Given the description of an element on the screen output the (x, y) to click on. 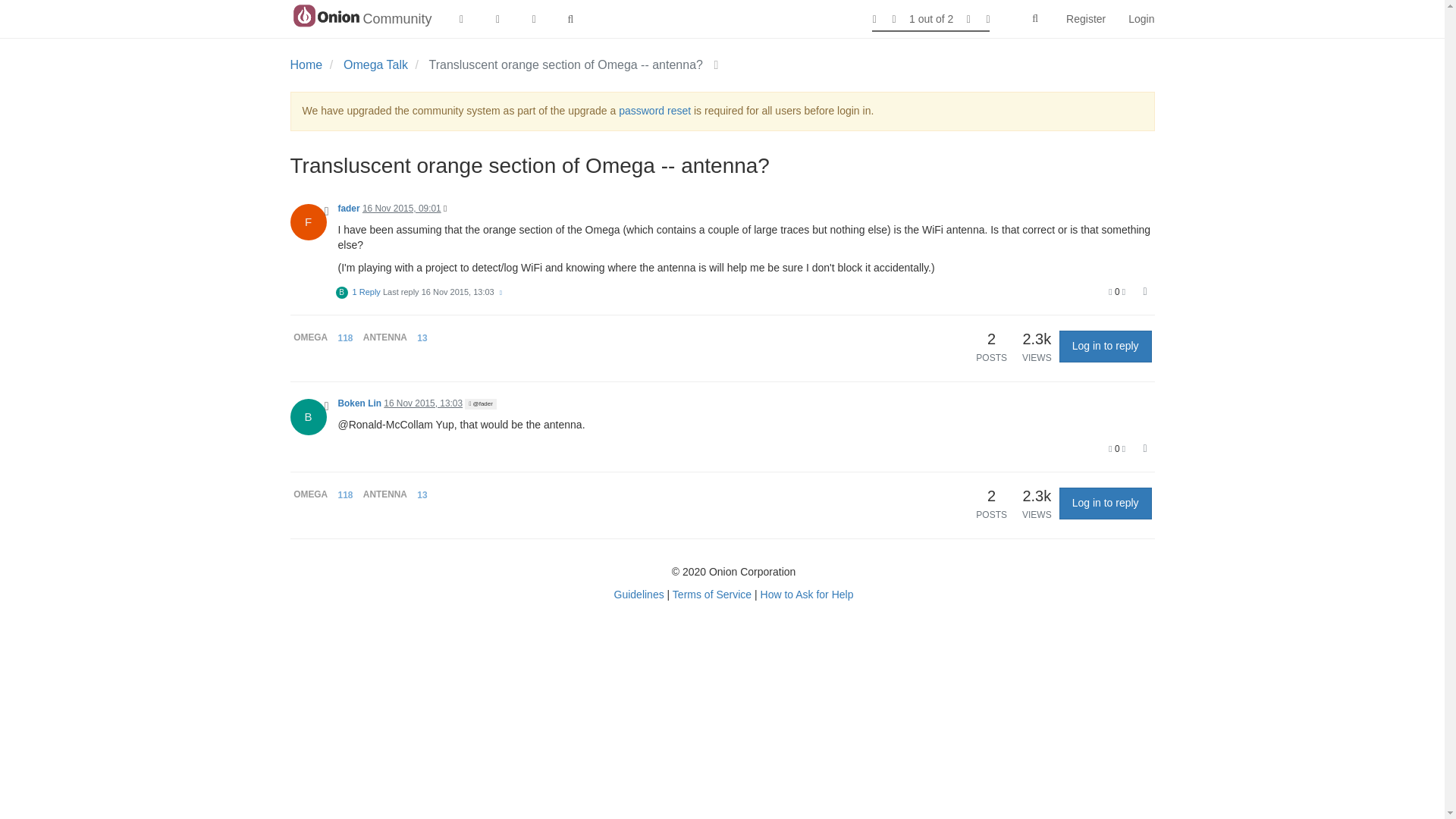
Omega Talk (375, 64)
Offline (326, 211)
16 Nov 2015, 09:01 (401, 208)
F (313, 220)
Login (1141, 18)
1 out of 2 (930, 18)
Home (305, 64)
Register (1085, 18)
16 Nov 2015, 09:01 (401, 208)
password reset (654, 110)
Search (1034, 18)
fader (348, 208)
